Given the description of an element on the screen output the (x, y) to click on. 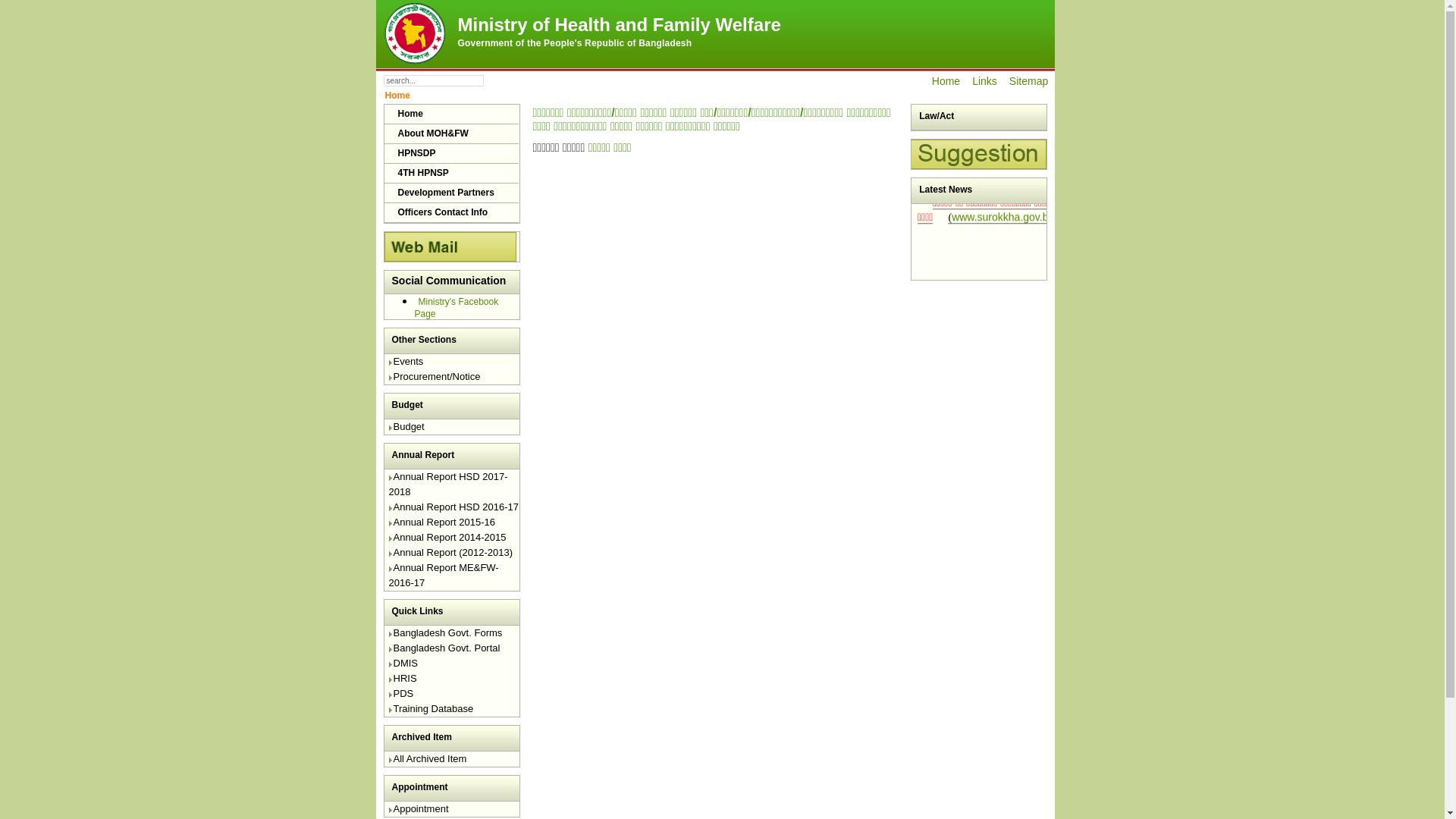
Ministry's Facebook Page Element type: text (456, 306)
Annual Report (2012-2013) Element type: text (450, 555)
Bangladesh Govt. Portal Element type: text (443, 651)
Links Element type: text (984, 80)
Annual Report HSD 2017-2018 Element type: text (447, 487)
Home Element type: text (450, 114)
HRIS Element type: text (402, 681)
DMIS Element type: text (402, 666)
https://hsd.gov.bd/ ) Element type: text (953, 220)
Bangladesh Govt. Forms Element type: text (445, 636)
Home Element type: text (945, 80)
Annual Report 2014-2015 Element type: text (446, 540)
Events Element type: text (405, 364)
About MOH&FW Element type: text (450, 134)
4TH HPNSP Element type: text (450, 173)
Annual Report ME&FW-2016-17 Element type: text (443, 578)
Development Partners Element type: text (450, 193)
All Archived Item Element type: text (427, 761)
Search Element type: text (505, 80)
Sitemap Element type: text (1028, 80)
https://mefwd.gov.bd/ ) Element type: text (985, 262)
Training Database Element type: text (430, 711)
www.surokkha.gov.bd Element type: text (1002, 307)
Annual Report HSD 2016-17 Element type: text (453, 510)
PDS Element type: text (400, 696)
Procurement/Notice Element type: text (434, 379)
Budget Element type: text (405, 429)
Officers Contact Info Element type: text (450, 212)
Annual Report 2015-16 Element type: text (441, 525)
HPNSDP Element type: text (450, 153)
